Given the description of an element on the screen output the (x, y) to click on. 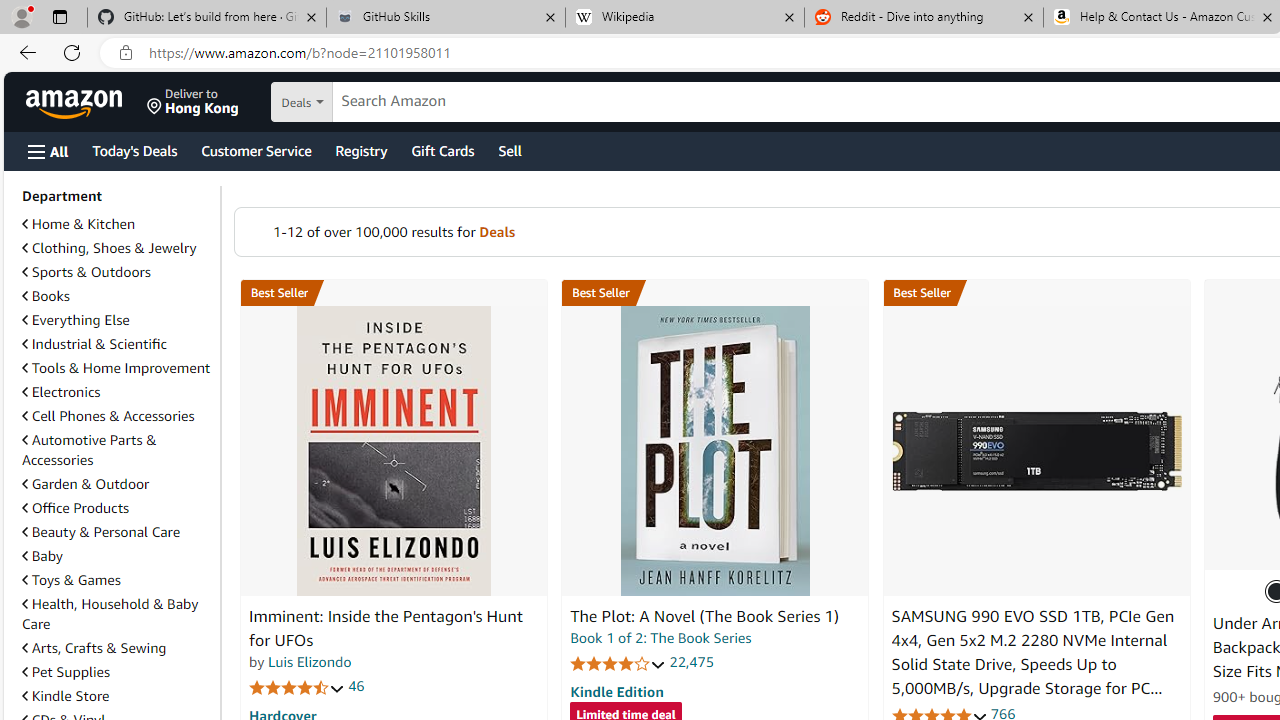
Tools & Home Improvement (117, 367)
Beauty & Personal Care (117, 532)
Pet Supplies (65, 672)
Skip to main content (86, 100)
Search in (371, 102)
Kindle Store (65, 695)
Electronics (117, 391)
Gift Cards (442, 150)
Wikipedia (684, 17)
Electronics (61, 392)
22,475 (691, 662)
Clothing, Shoes & Jewelry (117, 247)
Pet Supplies (117, 671)
Automotive Parts & Accessories (117, 449)
Beauty & Personal Care (100, 531)
